Given the description of an element on the screen output the (x, y) to click on. 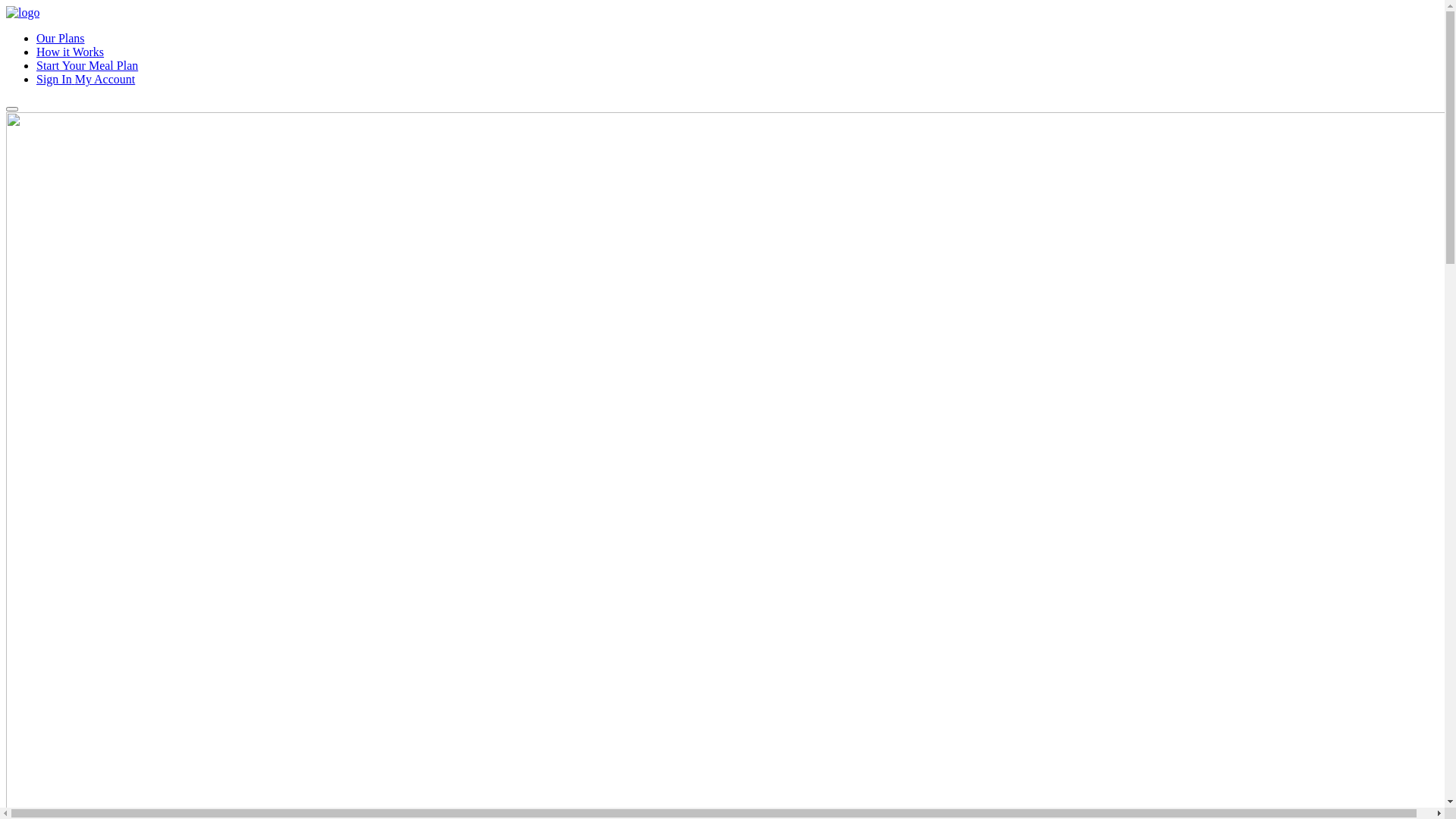
Sign In My Account Element type: text (85, 78)
Our Plans Element type: text (60, 37)
How it Works Element type: text (69, 51)
Start Your Meal Plan Element type: text (87, 65)
